Given the description of an element on the screen output the (x, y) to click on. 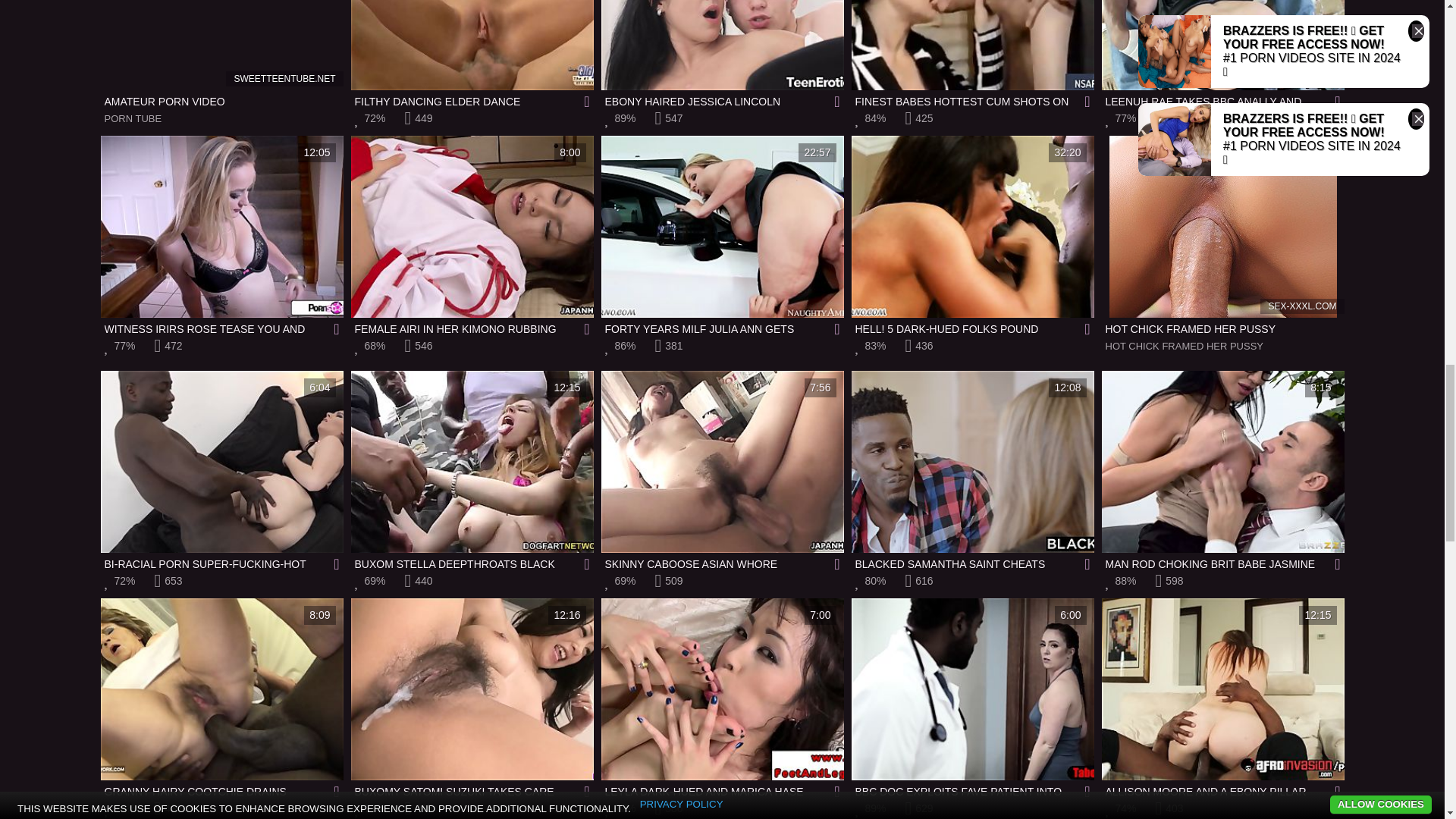
BUXOM STELLA DEEPTHROATS BLACK BONERS AND GETS BUKKAKE'D (471, 471)
HELL! 5 DARK-HUED FOLKS POUND BUSTY LADY (971, 235)
WITNESS IRIRS ROSE TEASE YOU AND JERK ONLY FOR YOU (221, 235)
FEMALE AIRI IN HER KIMONO RUBBING AND WANKING (471, 235)
LEENUH RAE TAKES BBC ANALLY AND GULPS (1221, 54)
FINEST BABES HOTTEST CUM SHOTS ON EARTH COMPILATION 93 (221, 63)
SKINNY CABOOSE ASIAN WHORE GETTING DOGGY-STYLE BEATEN (971, 54)
EBONY HAIRED JESSICA LINCOLN PULVERIZED SUPREME (721, 471)
